Given the description of an element on the screen output the (x, y) to click on. 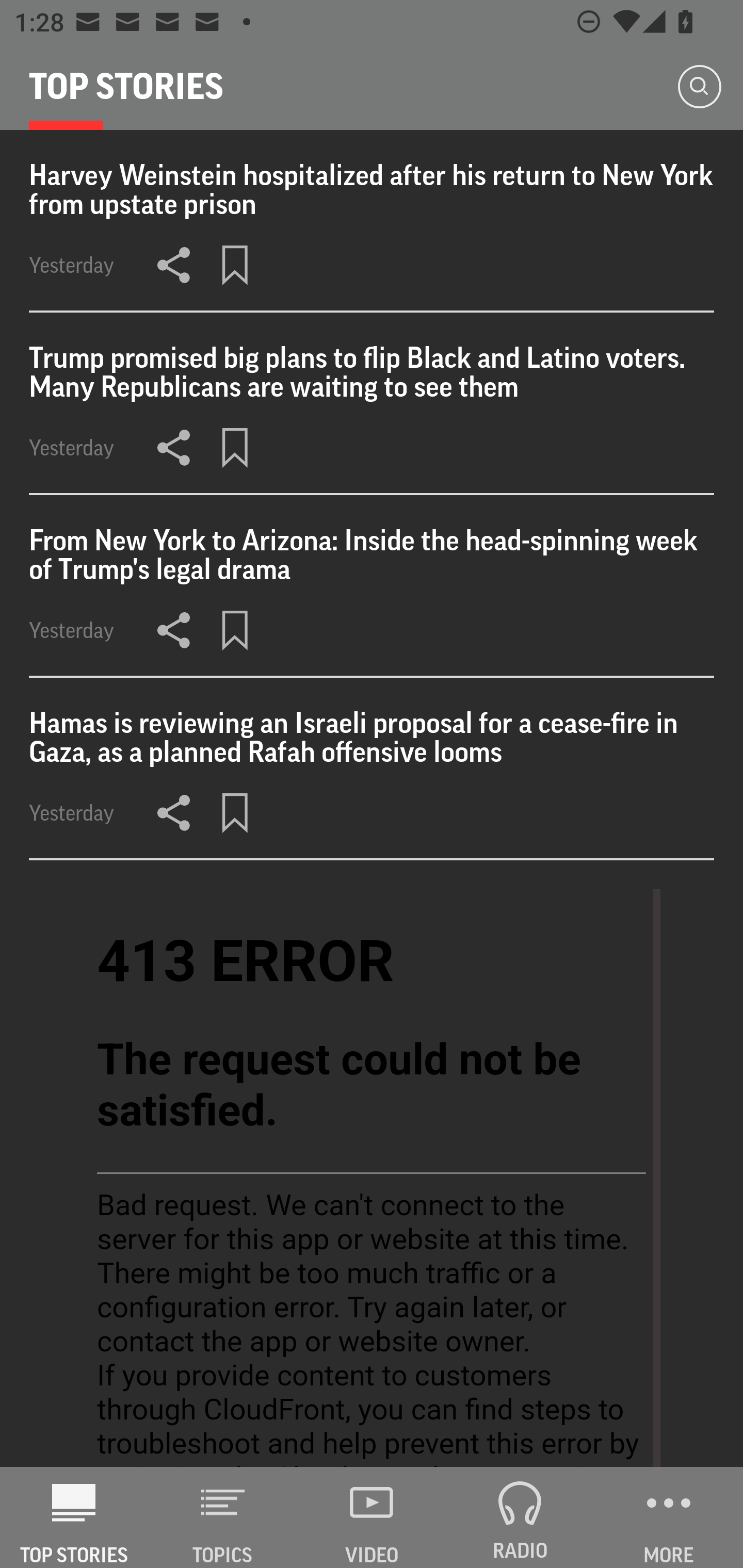
AP News TOP STORIES (74, 1517)
TOPICS (222, 1517)
VIDEO (371, 1517)
RADIO (519, 1517)
MORE (668, 1517)
